Given the description of an element on the screen output the (x, y) to click on. 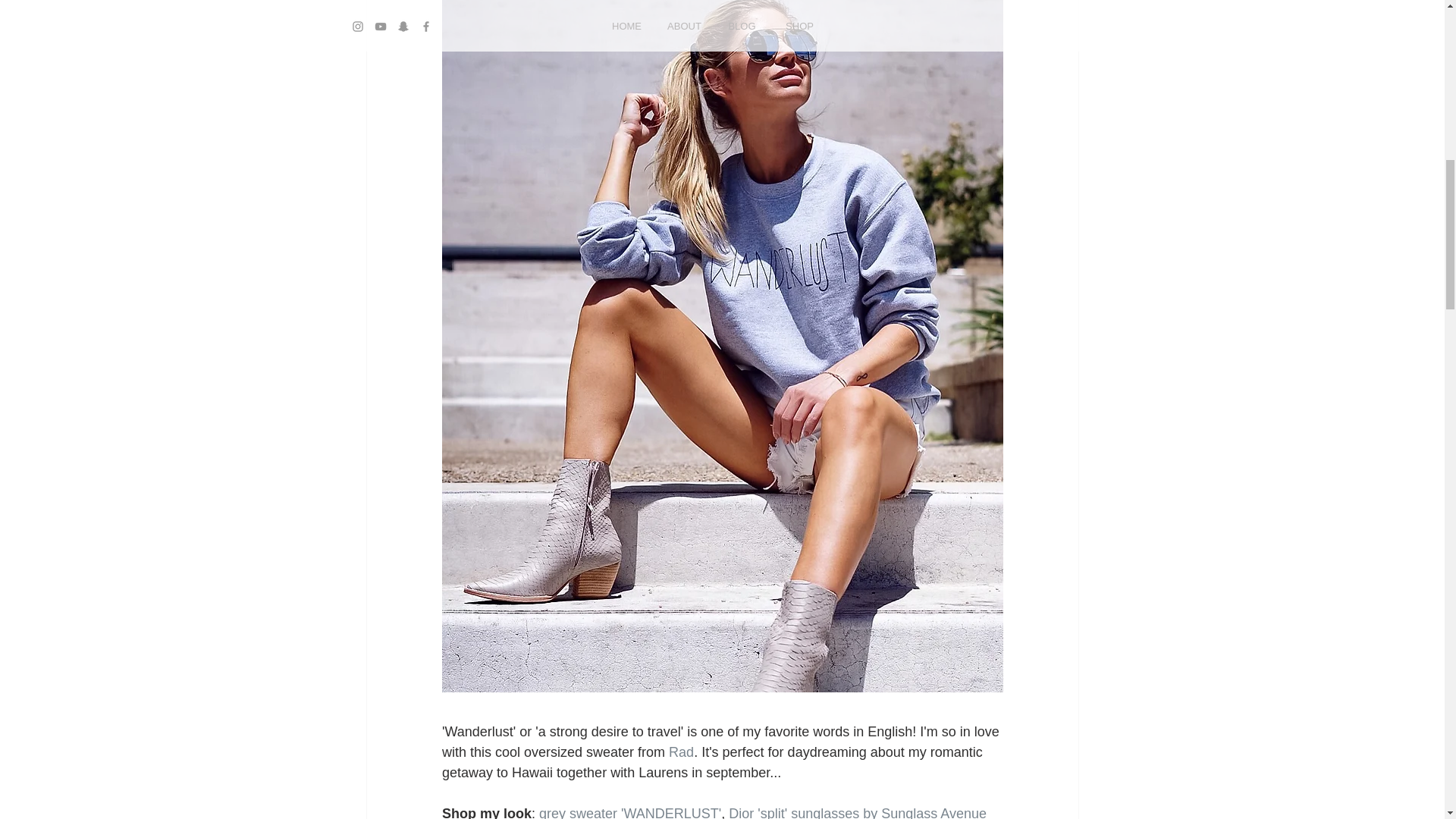
grey sweater 'WANDERLUST' (629, 812)
Dior 'split' sunglasses by Sunglass Avenue (858, 812)
Rad (681, 752)
